Given the description of an element on the screen output the (x, y) to click on. 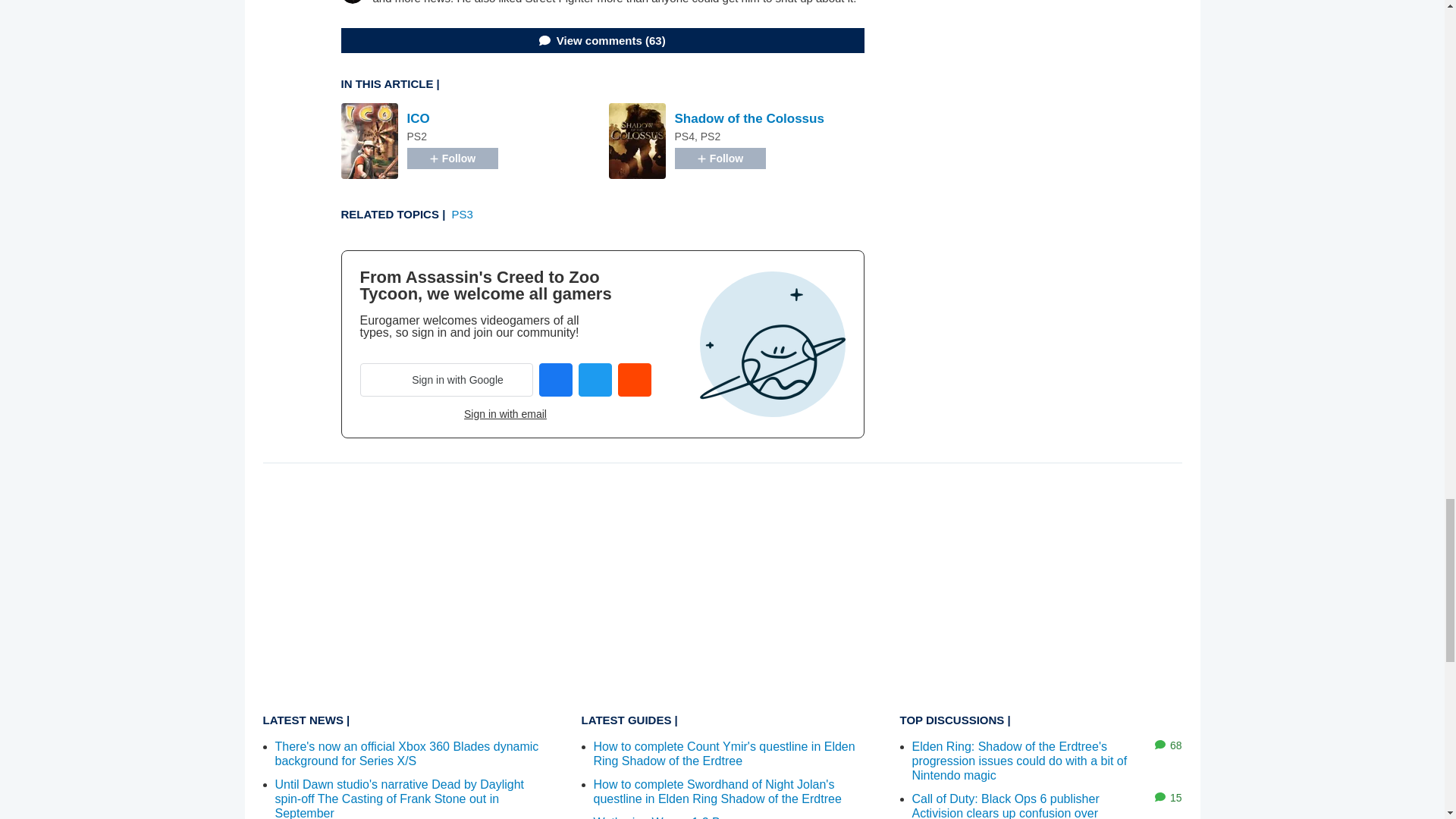
Follow (451, 158)
ICO (417, 118)
Shadow of the Colossus (749, 118)
